Given the description of an element on the screen output the (x, y) to click on. 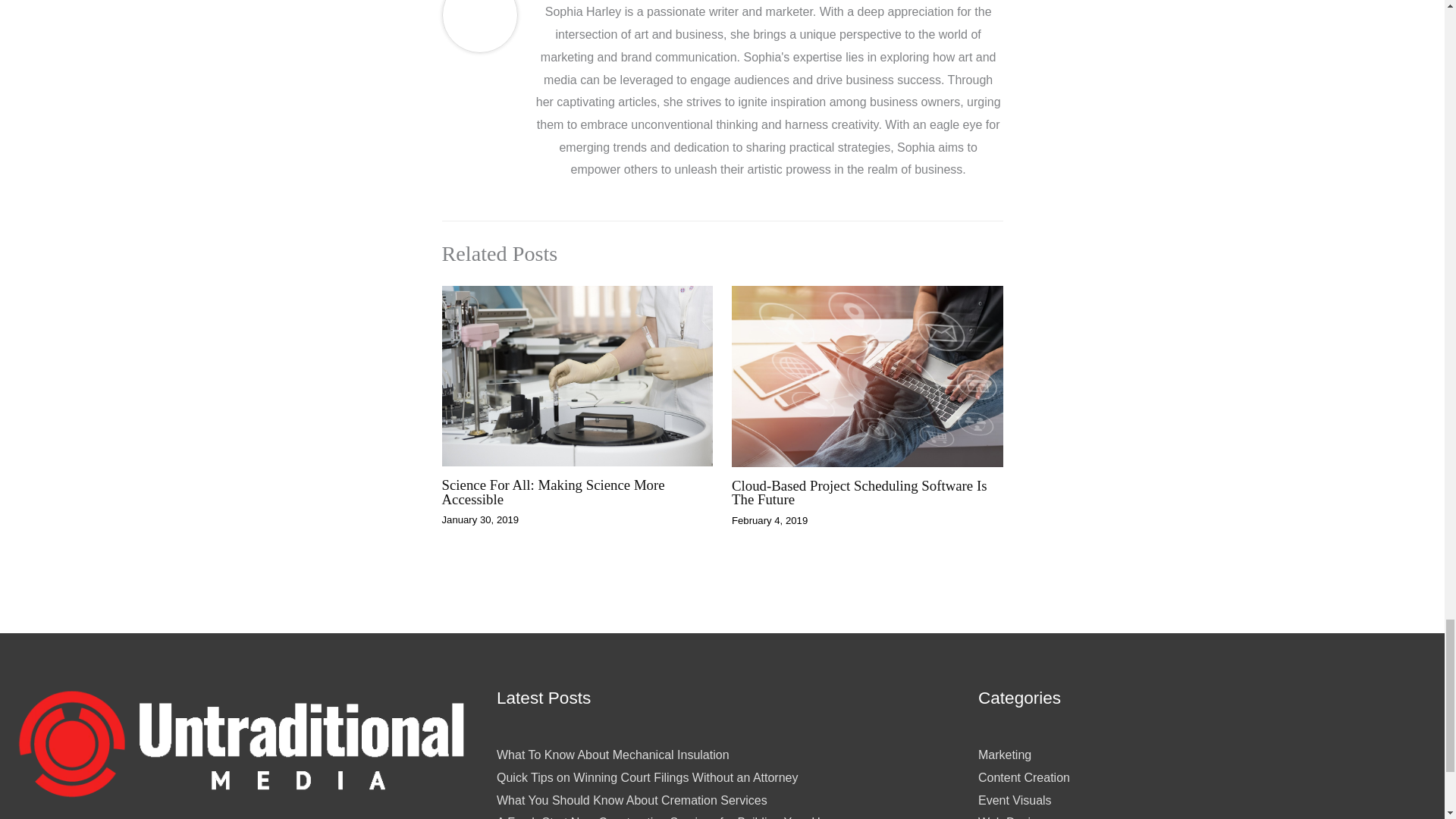
Science For All: Making Science More Accessible (552, 491)
